Given the description of an element on the screen output the (x, y) to click on. 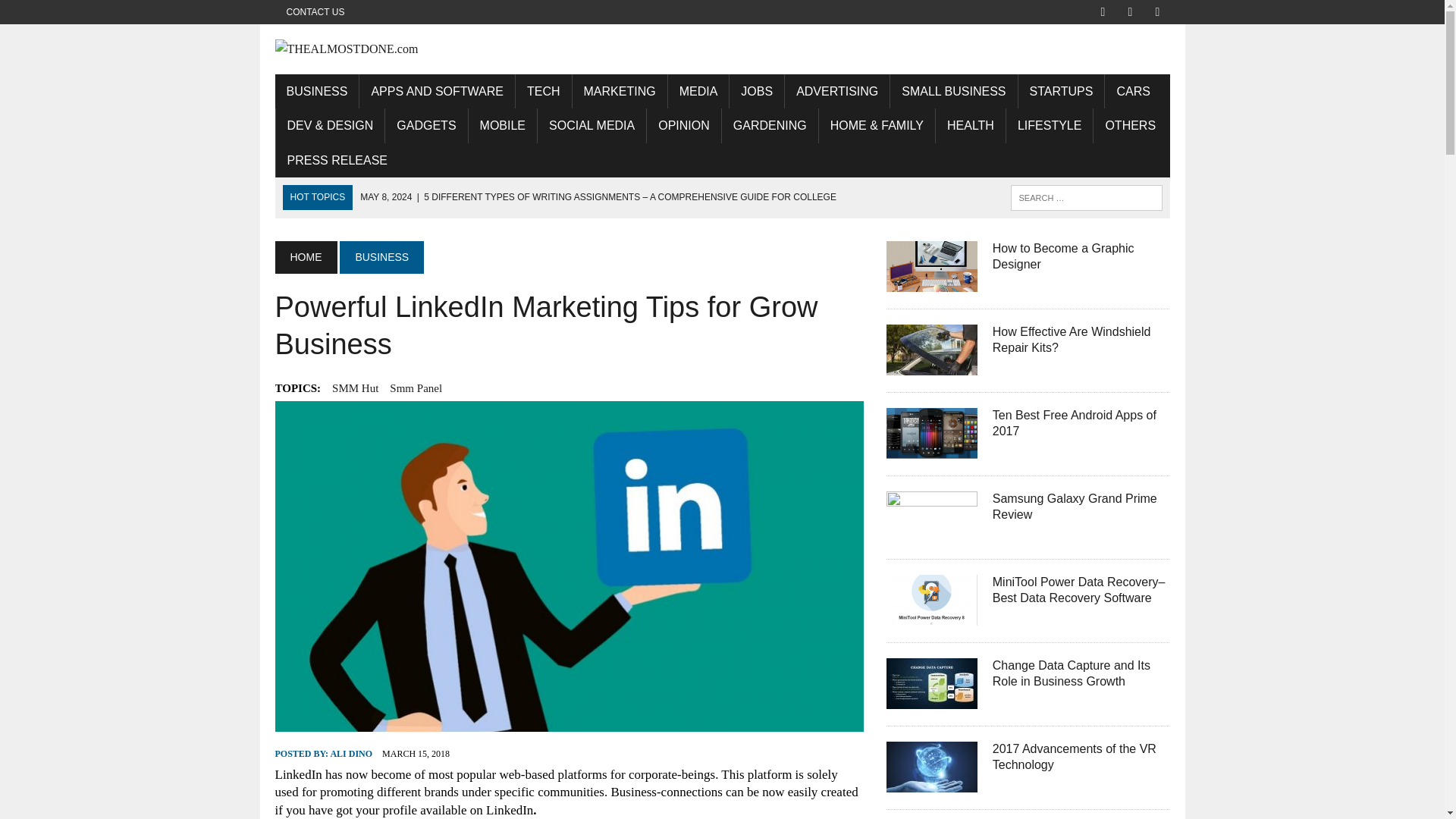
CONTACT US (315, 12)
How to Become a Graphic Designer (931, 282)
How Effective Are Windshield Repair Kits? (931, 365)
THEALMOSTDONE.com (722, 48)
How to Become a Graphic Designer (1063, 256)
